Given the description of an element on the screen output the (x, y) to click on. 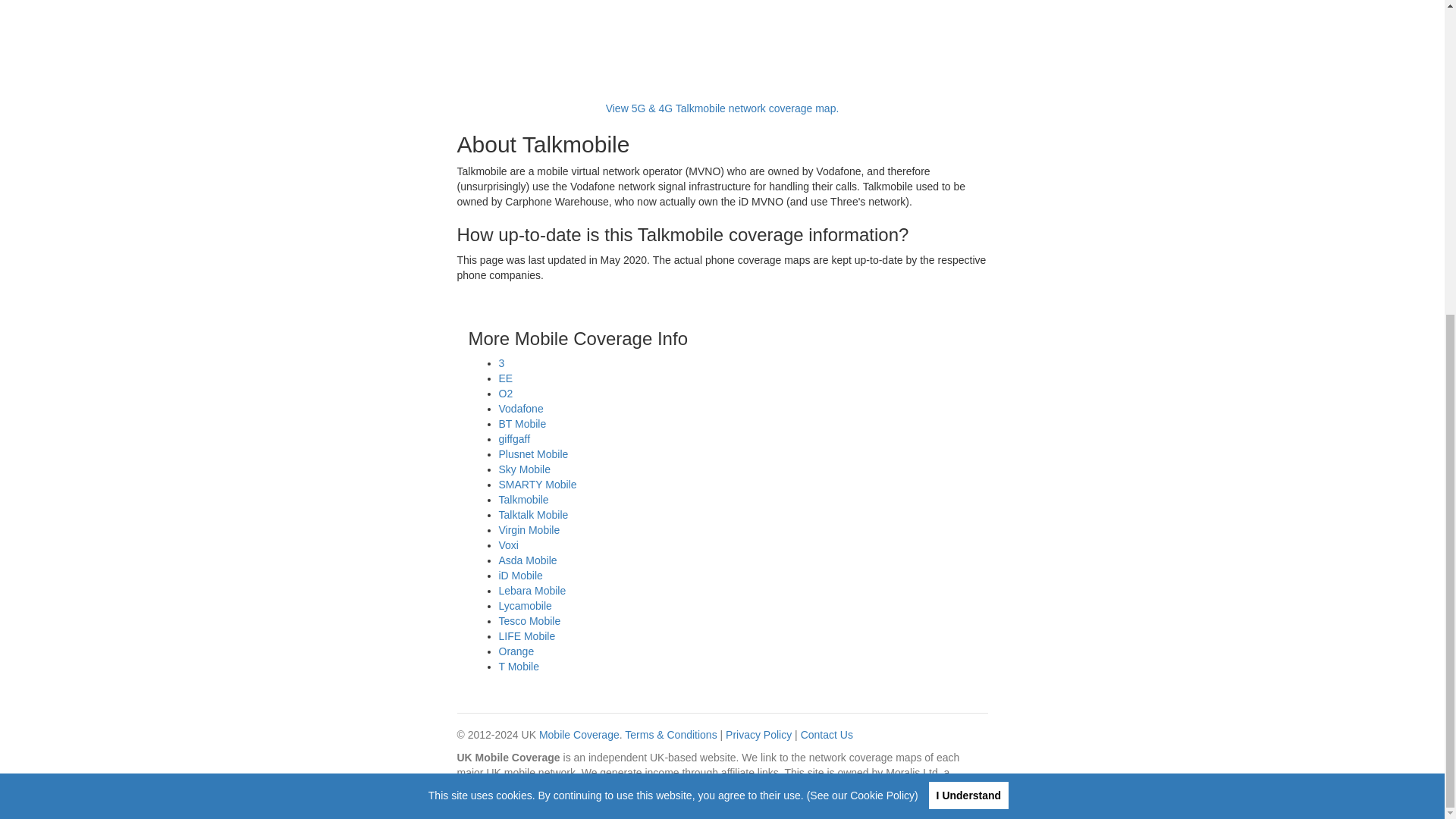
LIFE Mobile (527, 635)
Cookie Policy (882, 291)
Talktalk Mobile (534, 514)
Contact Us (826, 734)
Vodafone (521, 408)
T Mobile (518, 666)
Orange (516, 651)
Asda Mobile (528, 560)
Sky Mobile (524, 469)
O2 (506, 393)
